Given the description of an element on the screen output the (x, y) to click on. 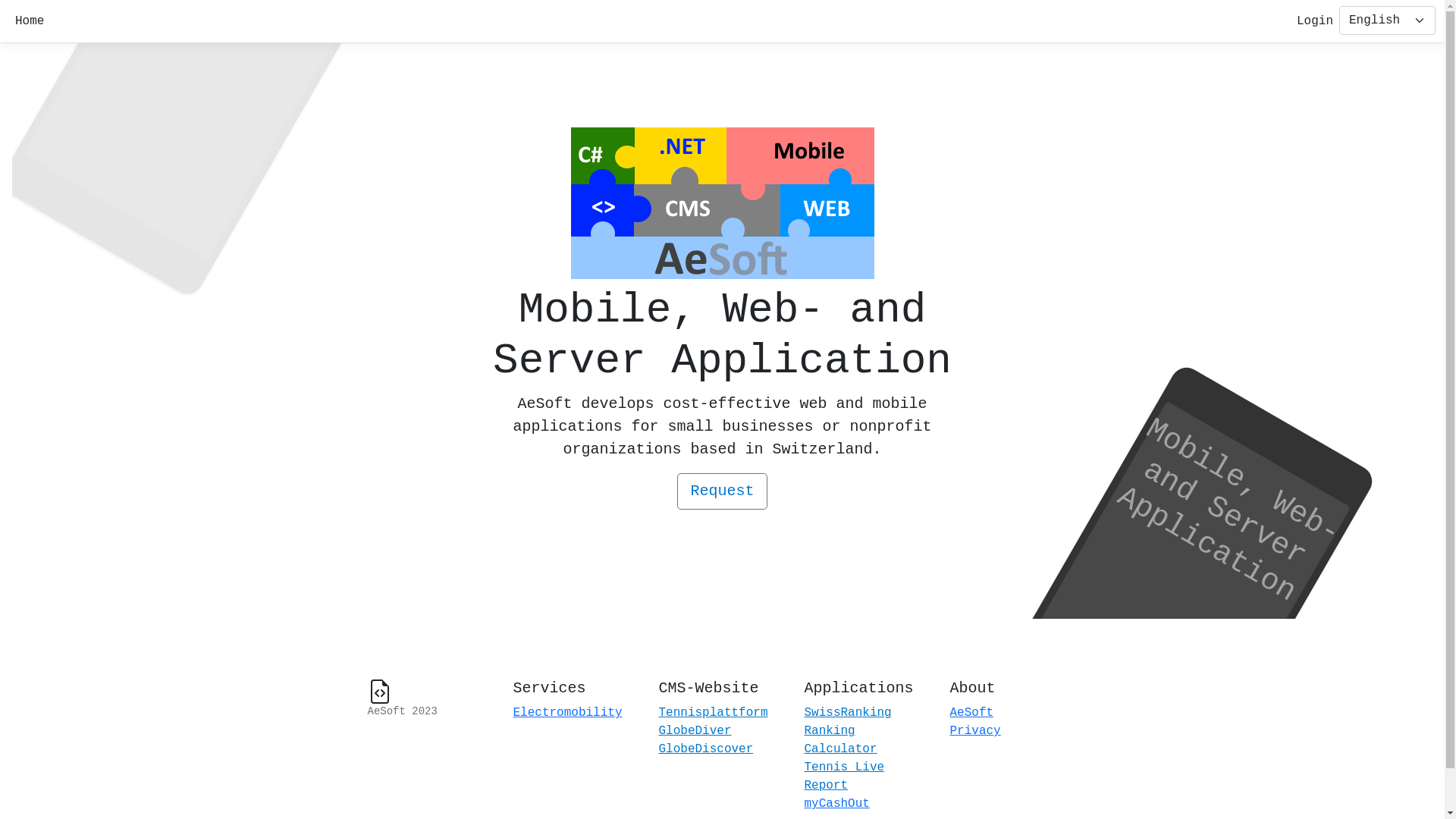
GlobeDiscover Element type: text (705, 749)
GlobeDiver Element type: text (694, 730)
Privacy Element type: text (974, 730)
Tennisplattform Element type: text (712, 712)
myCashOut Element type: text (836, 803)
Home Element type: text (29, 21)
Login Element type: text (1314, 21)
Electromobility Element type: text (566, 712)
SwissRanking Element type: text (847, 712)
Request Element type: text (721, 491)
Ranking Calculator Element type: text (839, 740)
AeSoft Element type: text (971, 712)
Tennis Live Report Element type: text (843, 776)
